Given the description of an element on the screen output the (x, y) to click on. 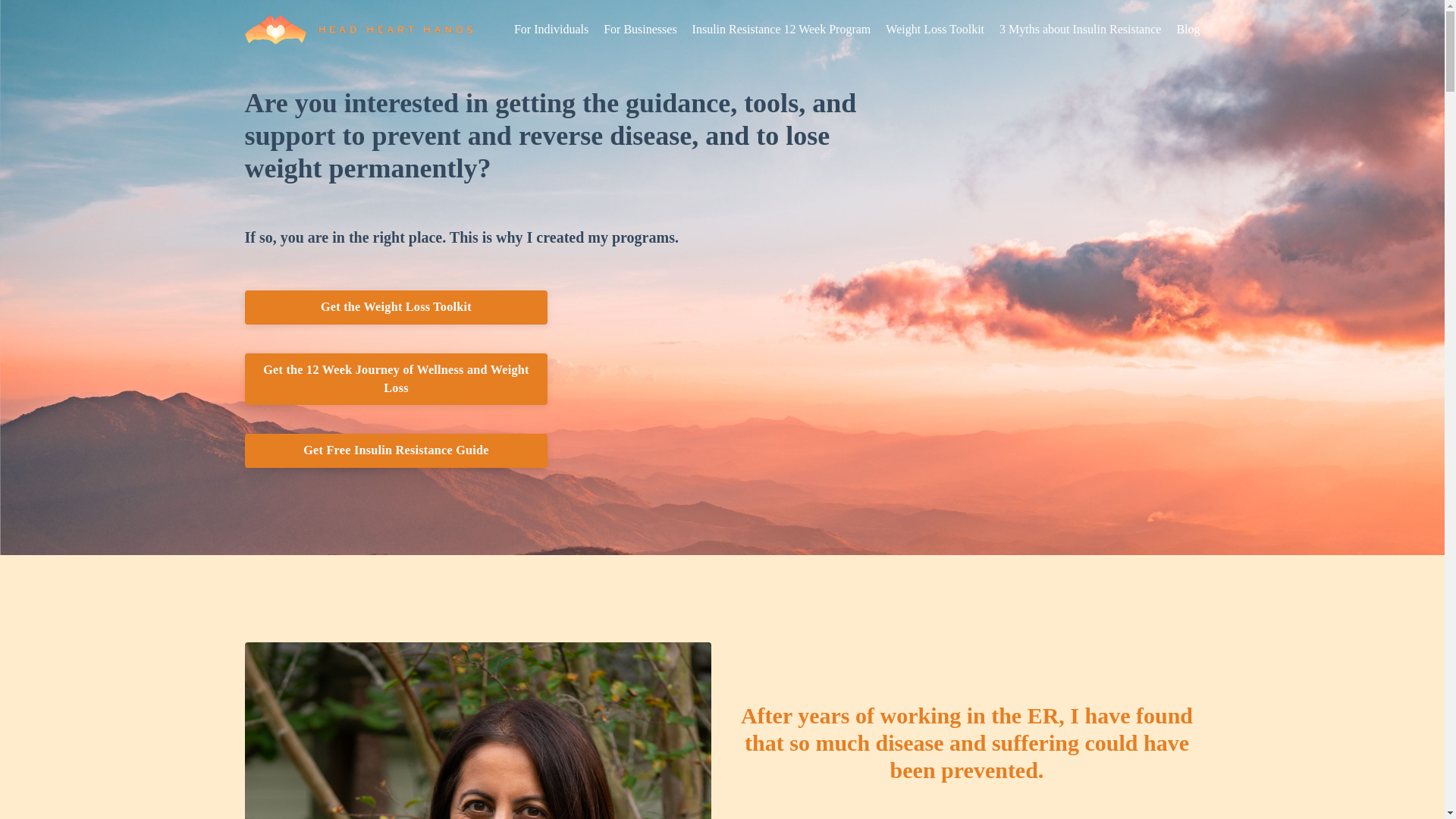
3 Myths about Insulin Resistance (1079, 29)
Insulin Resistance 12 Week Program (781, 29)
For Individuals (550, 29)
Get Free Insulin Resistance Guide (395, 450)
Blog (1187, 29)
Weight Loss Toolkit (934, 29)
For Businesses (640, 29)
Get the Weight Loss Toolkit (395, 306)
Get the 12 Week Journey of Wellness and Weight Loss (395, 378)
